Given the description of an element on the screen output the (x, y) to click on. 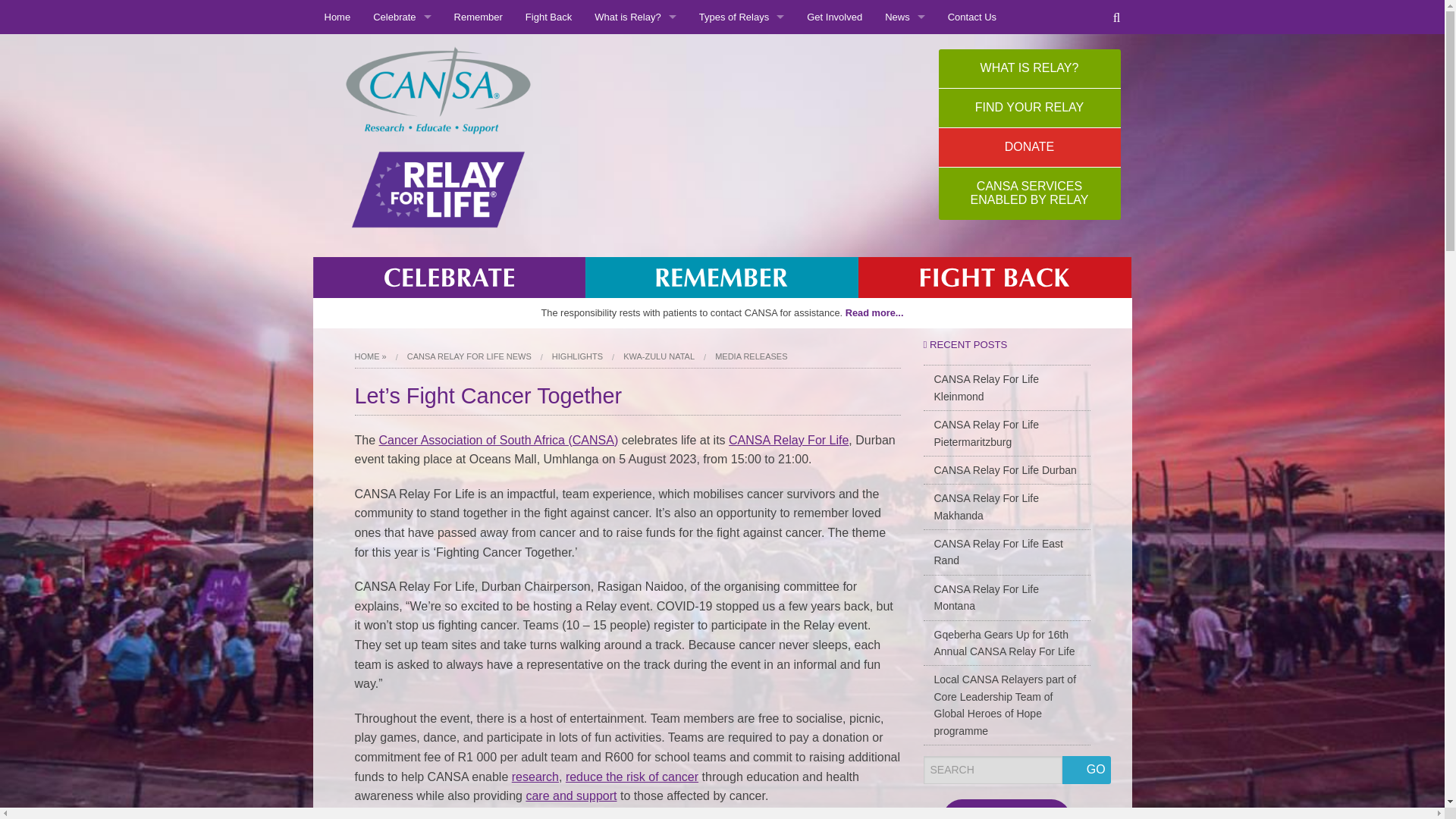
Resource Library (741, 155)
Remember (477, 17)
Fight Back (548, 17)
Find Your Relay (741, 86)
Types of Relays (741, 17)
CANSA Relay For Life News (904, 51)
Overview (635, 51)
Celebrate (401, 17)
Home (337, 17)
Caregivers (401, 86)
News (904, 17)
Types of Relays (635, 86)
Get Involved (833, 17)
GO (856, 160)
GO (1086, 769)
